Given the description of an element on the screen output the (x, y) to click on. 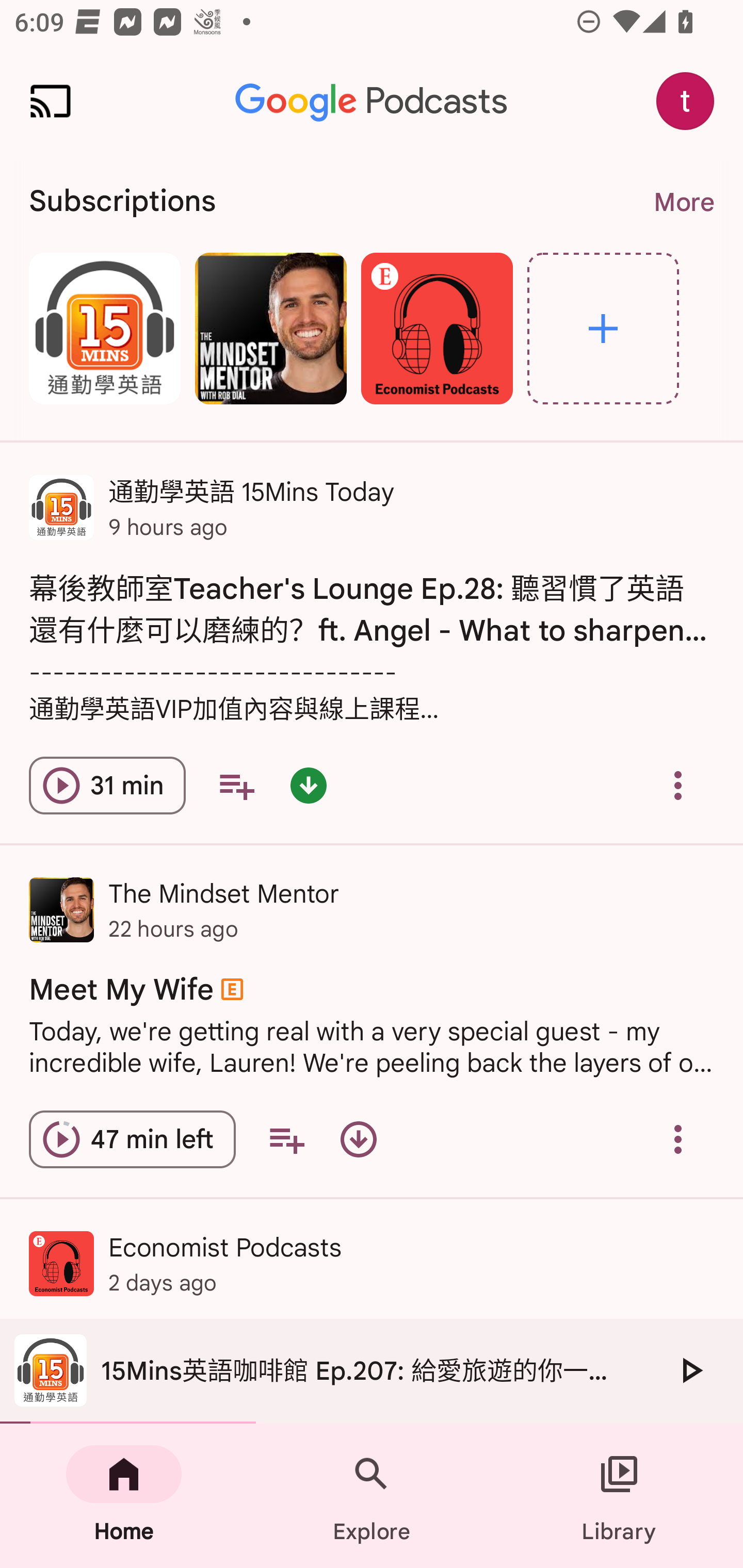
Cast. Disconnected (50, 101)
More More. Navigate to subscriptions page. (683, 202)
通勤學英語 15Mins Today (104, 328)
The Mindset Mentor (270, 328)
Economist Podcasts (436, 328)
Explore (603, 328)
Add to your queue (235, 785)
Episode downloaded - double tap for options (308, 785)
Overflow menu (677, 785)
Play episode Meet My Wife 47 min left (131, 1139)
Add to your queue (286, 1139)
Download episode (358, 1139)
Overflow menu (677, 1139)
Play (690, 1370)
Explore (371, 1495)
Library (619, 1495)
